Given the description of an element on the screen output the (x, y) to click on. 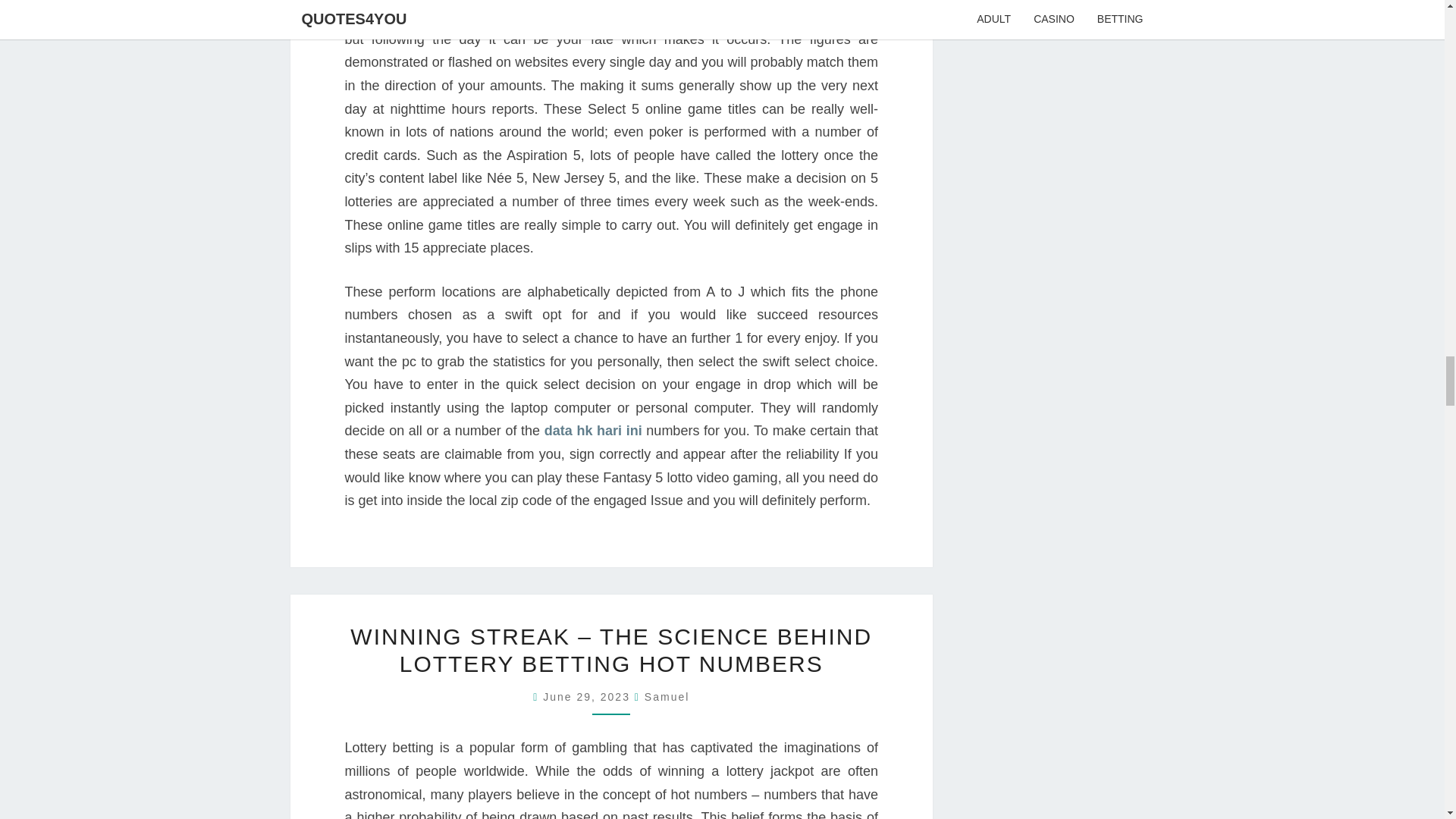
data hk hari ini (593, 430)
View all posts by Samuel (666, 696)
Samuel (666, 696)
9:42 am (588, 696)
June 29, 2023 (588, 696)
